Given the description of an element on the screen output the (x, y) to click on. 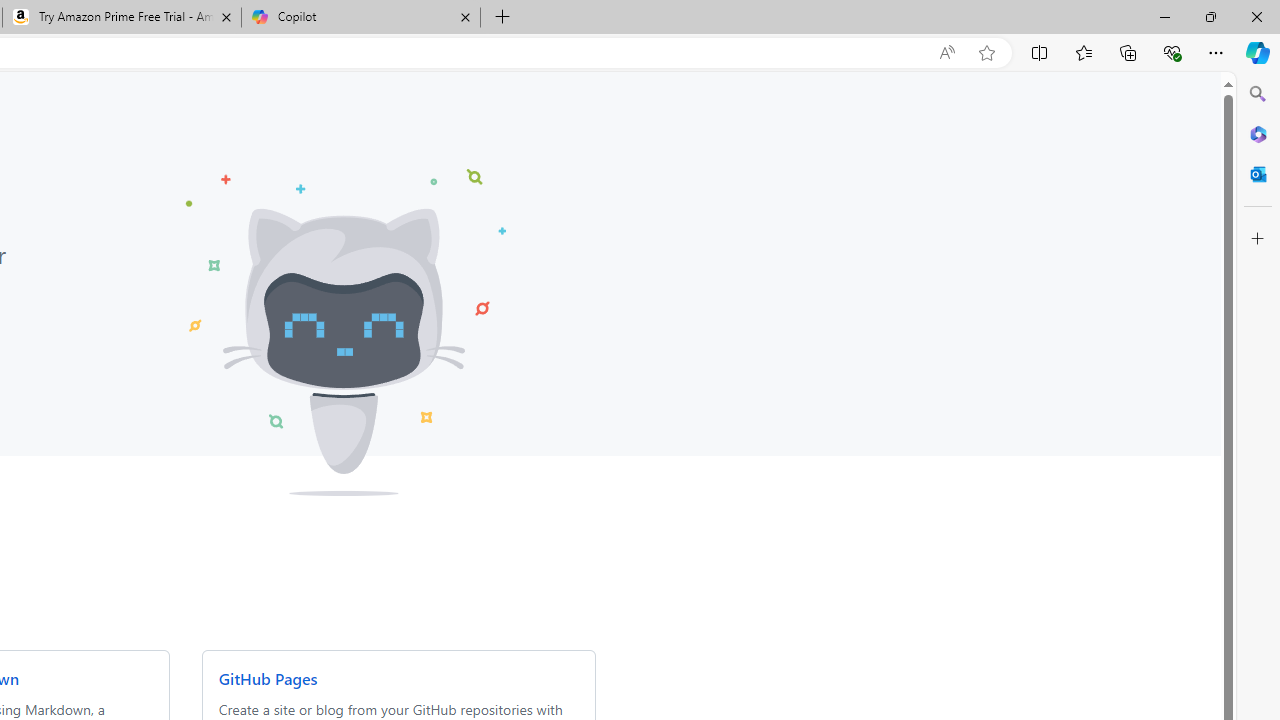
Copilot (360, 17)
GitHub Pages (267, 678)
